Given the description of an element on the screen output the (x, y) to click on. 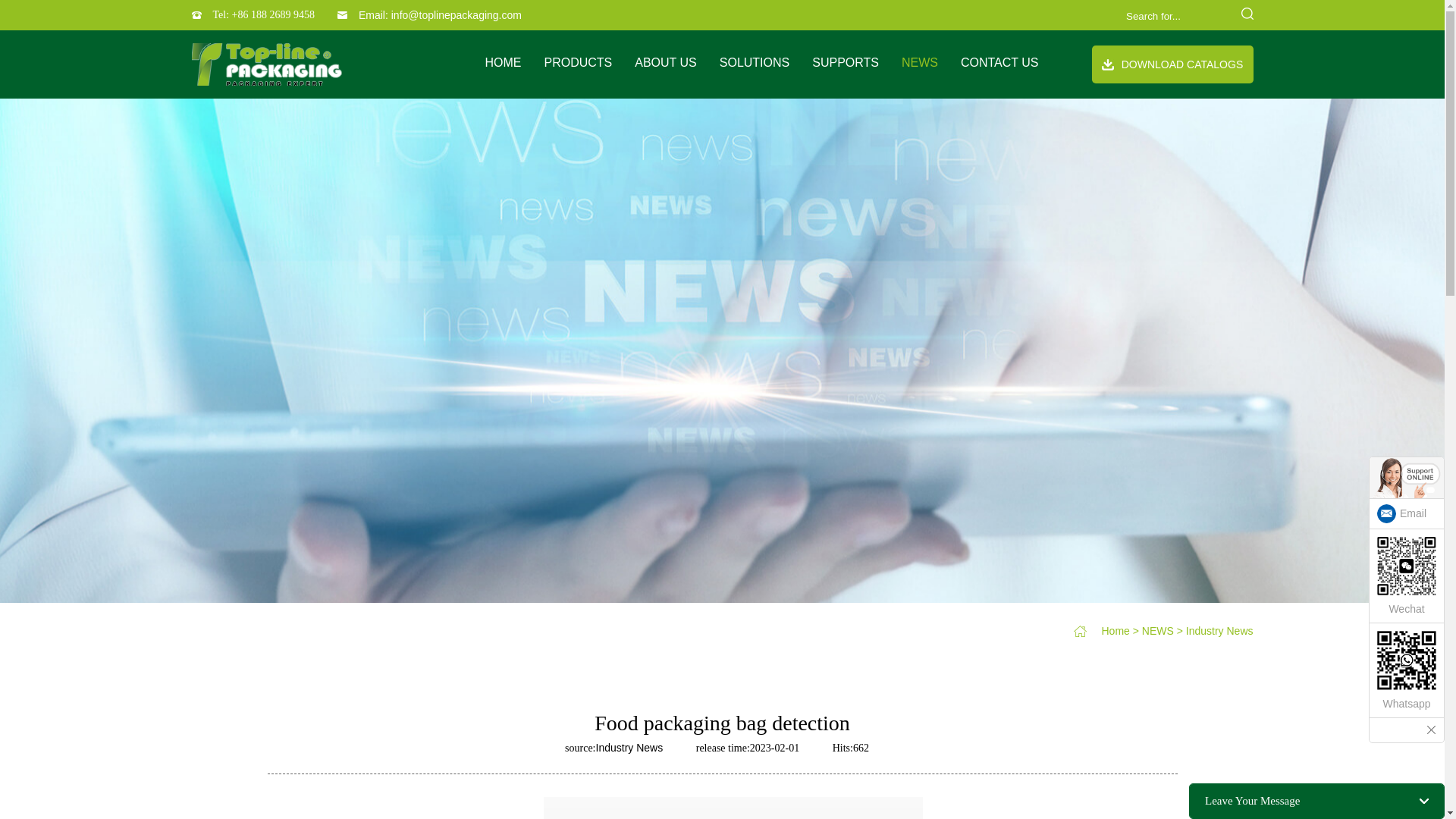
SOLUTIONS (754, 61)
CONTACT US (999, 61)
PRODUCTS (577, 61)
DOWNLOAD CATALOGS (1172, 64)
